Given the description of an element on the screen output the (x, y) to click on. 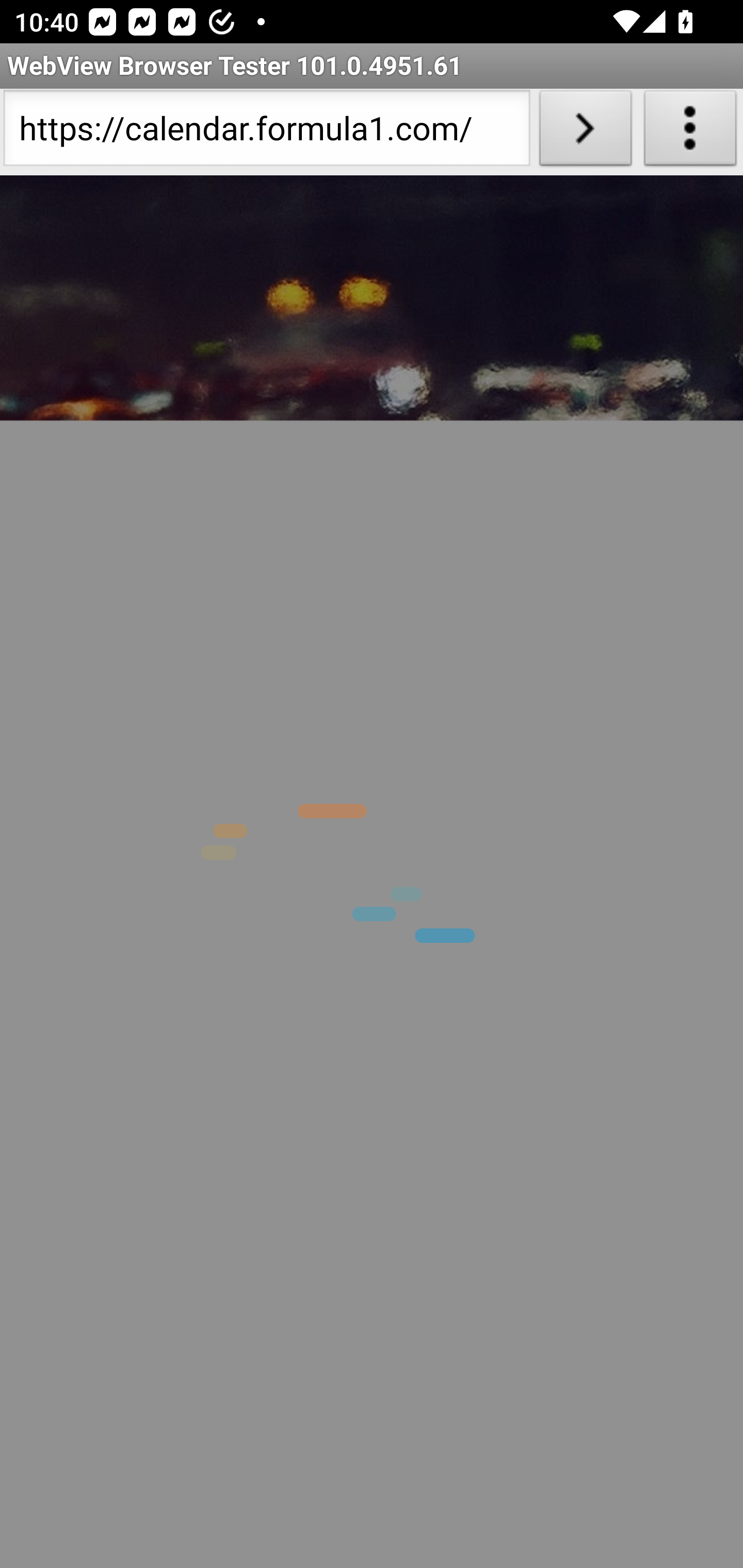
https://calendar.formula1.com/ (266, 132)
Load URL (585, 132)
About WebView (690, 132)
